Given the description of an element on the screen output the (x, y) to click on. 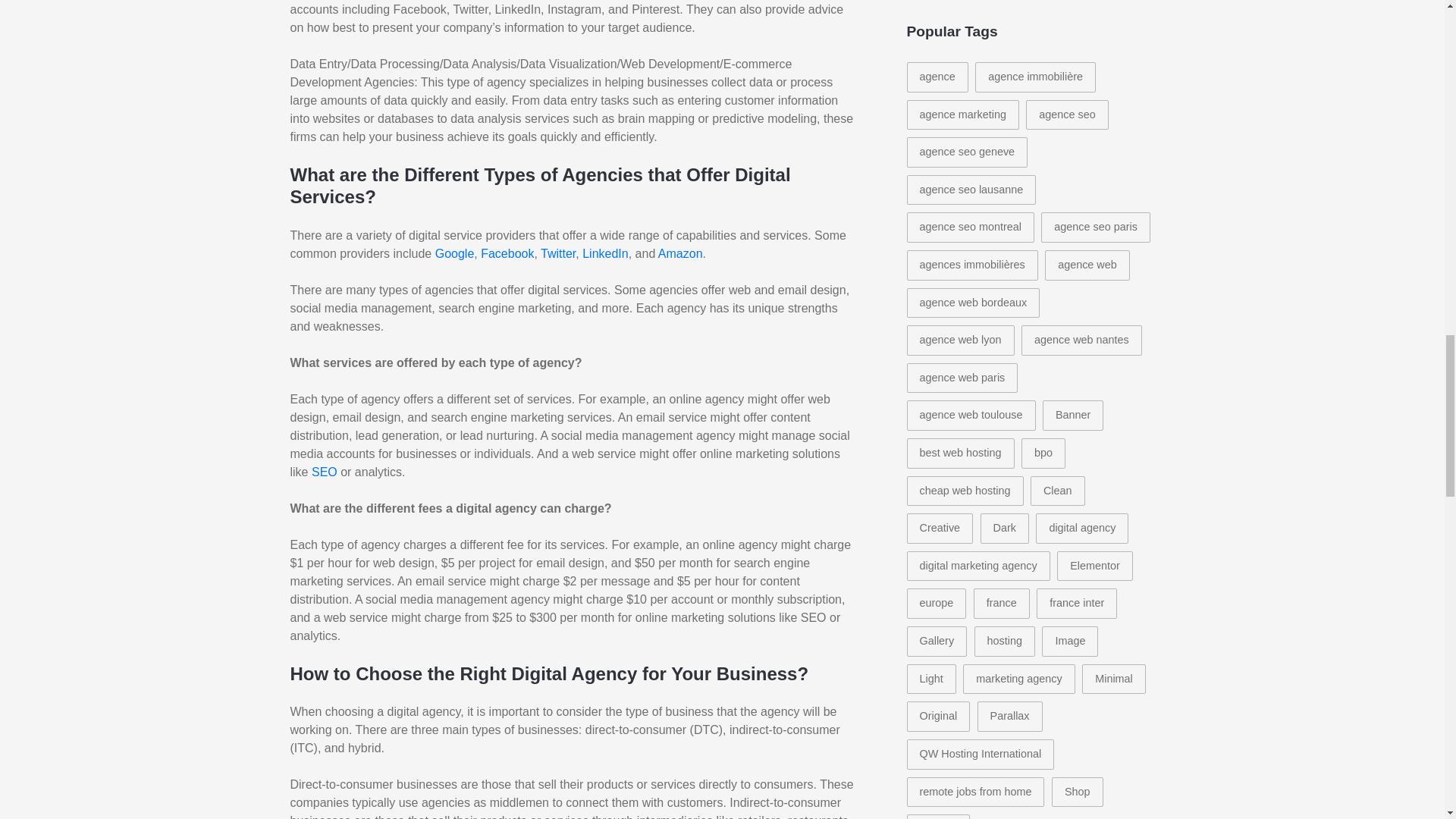
Google (454, 253)
Facebook (507, 253)
Twitter (557, 253)
Amazon (680, 253)
LinkedIn (605, 253)
SEO (324, 472)
Amazon (680, 253)
